Given the description of an element on the screen output the (x, y) to click on. 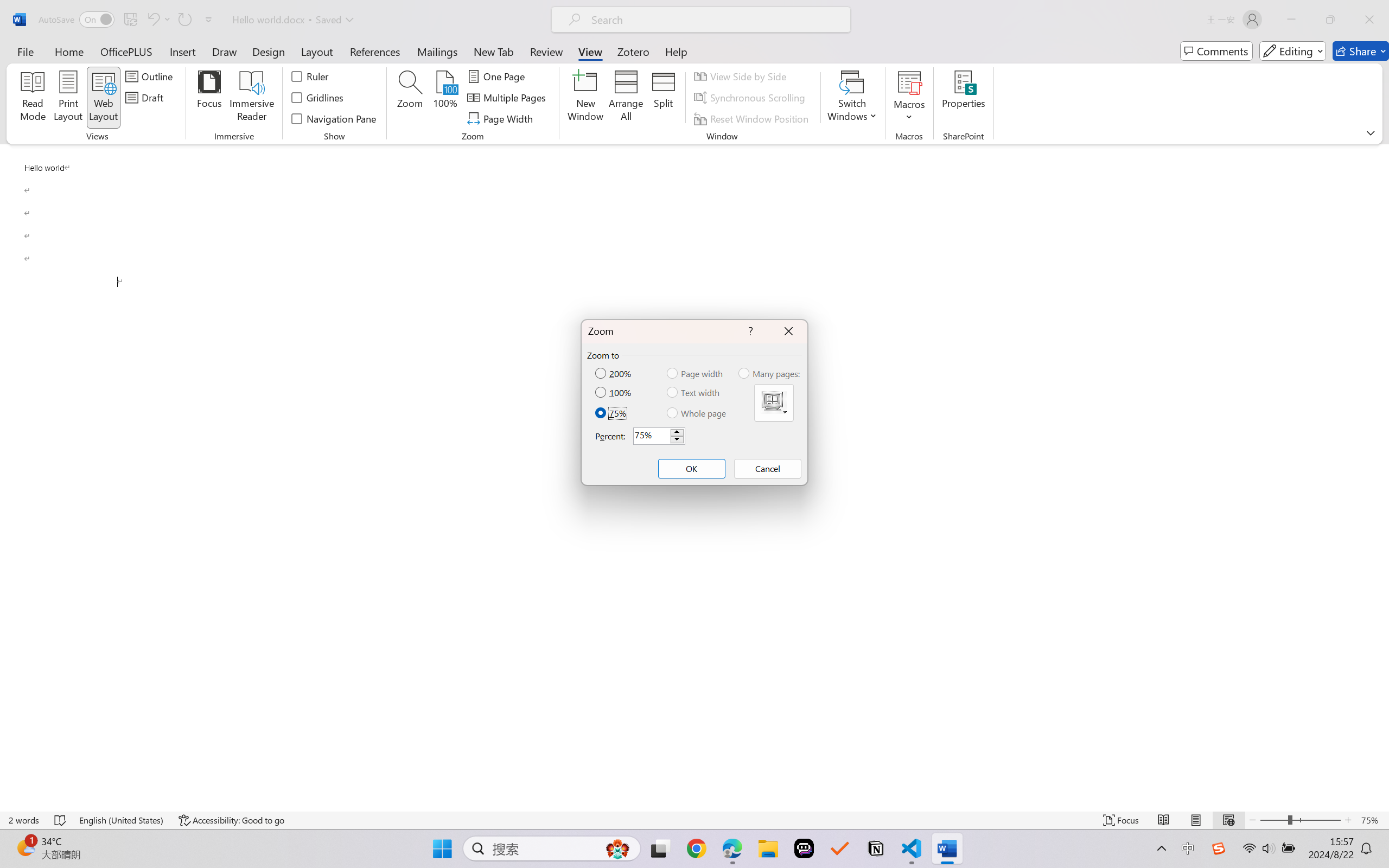
AutoSave (76, 19)
Zoom... (409, 97)
Page width (695, 373)
Quick Access Toolbar (127, 19)
Insert (182, 51)
Zoom (1300, 819)
Zotero (632, 51)
Draw (224, 51)
MSO Generic Control Container (774, 402)
Text width (694, 392)
Poe (804, 848)
200% (614, 373)
